Given the description of an element on the screen output the (x, y) to click on. 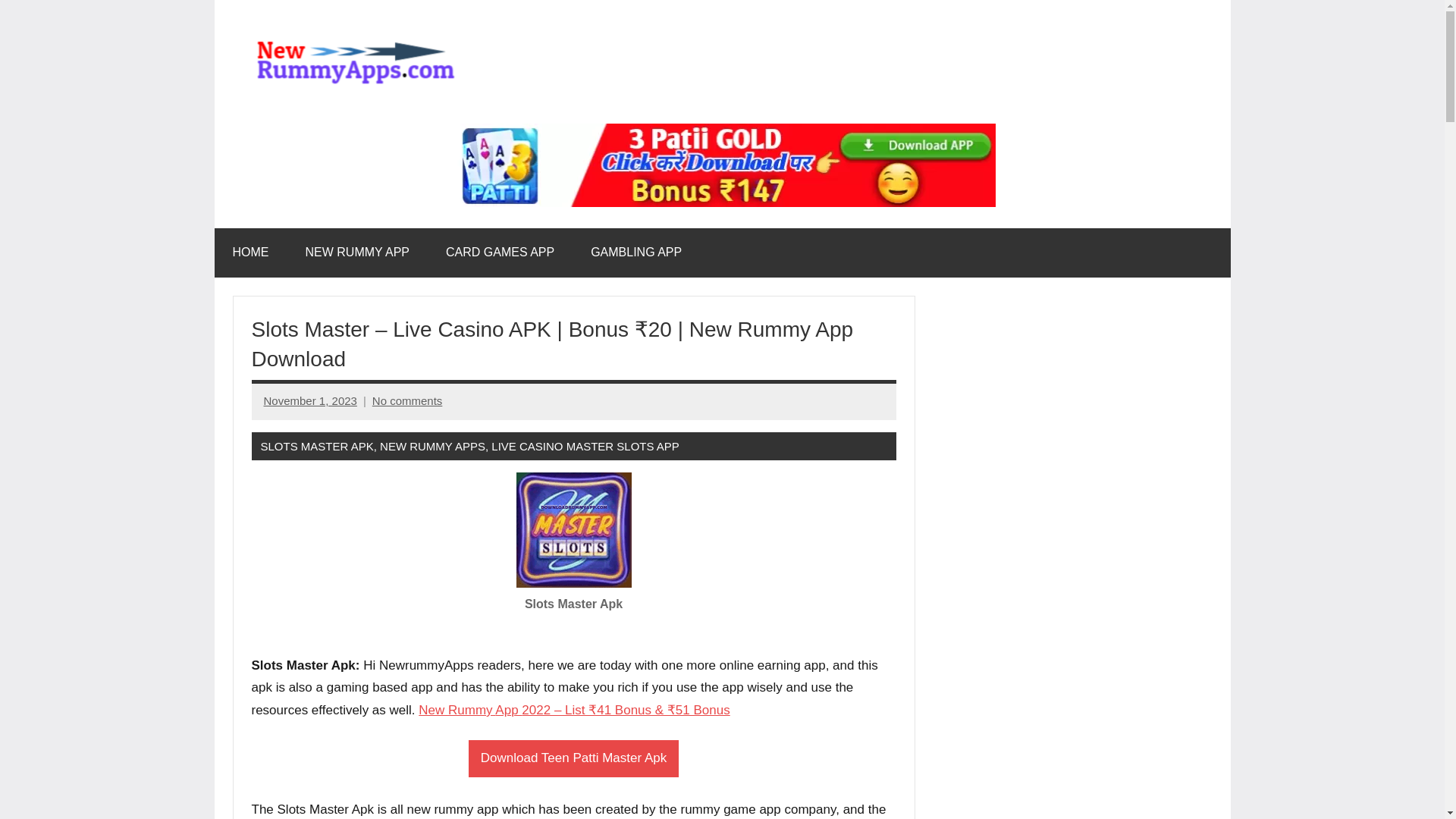
New Rummy (457, 709)
App (508, 709)
HOME (250, 252)
November 1, 2023 (309, 400)
GAMBLING APP (636, 252)
Gold (721, 133)
CARD GAMES APP (500, 252)
Download Teen Patti Master Apk (573, 758)
NEW RUMMY APP (357, 252)
No comments (407, 400)
